Given the description of an element on the screen output the (x, y) to click on. 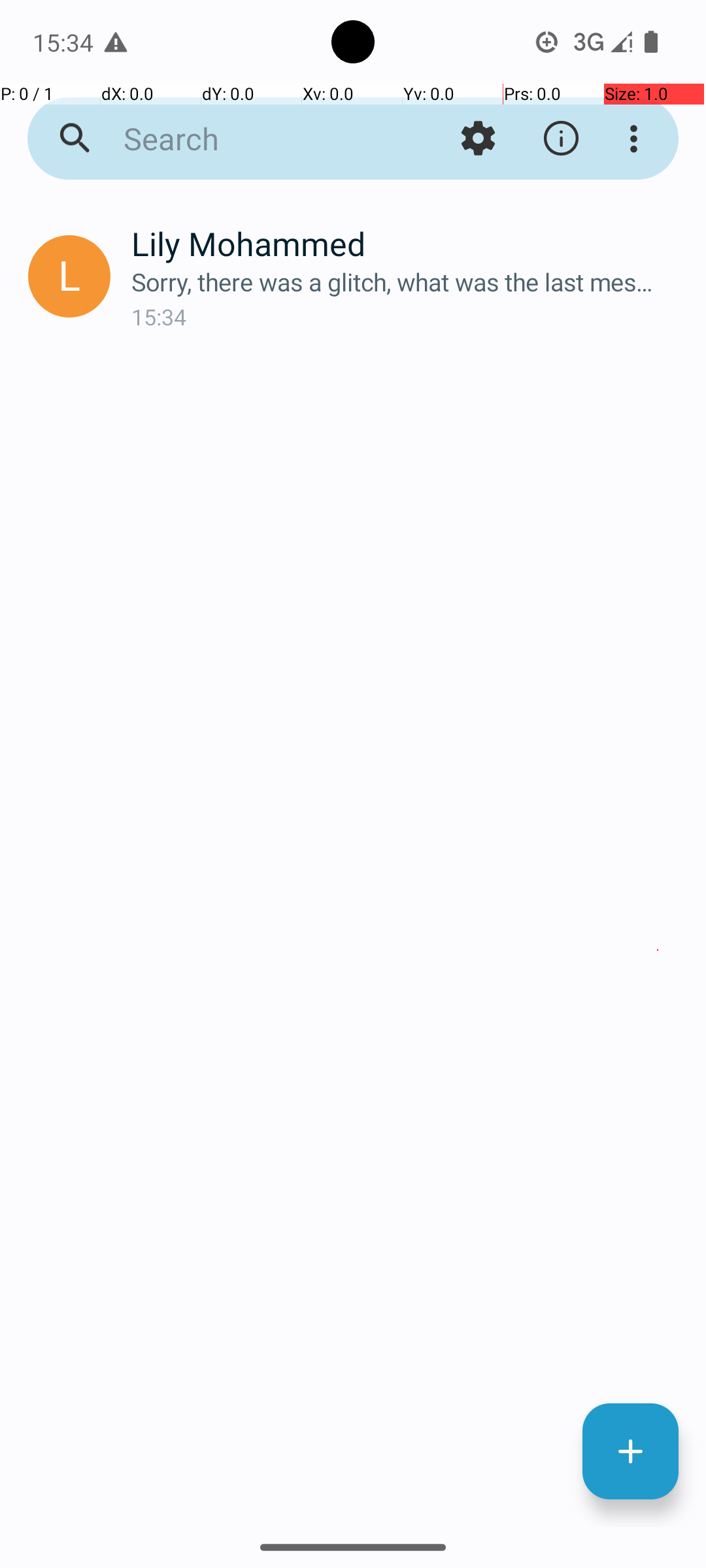
Lily Mohammed Element type: android.widget.TextView (408, 242)
Sorry, there was a glitch, what was the last message you sent me? Element type: android.widget.TextView (408, 281)
